Given the description of an element on the screen output the (x, y) to click on. 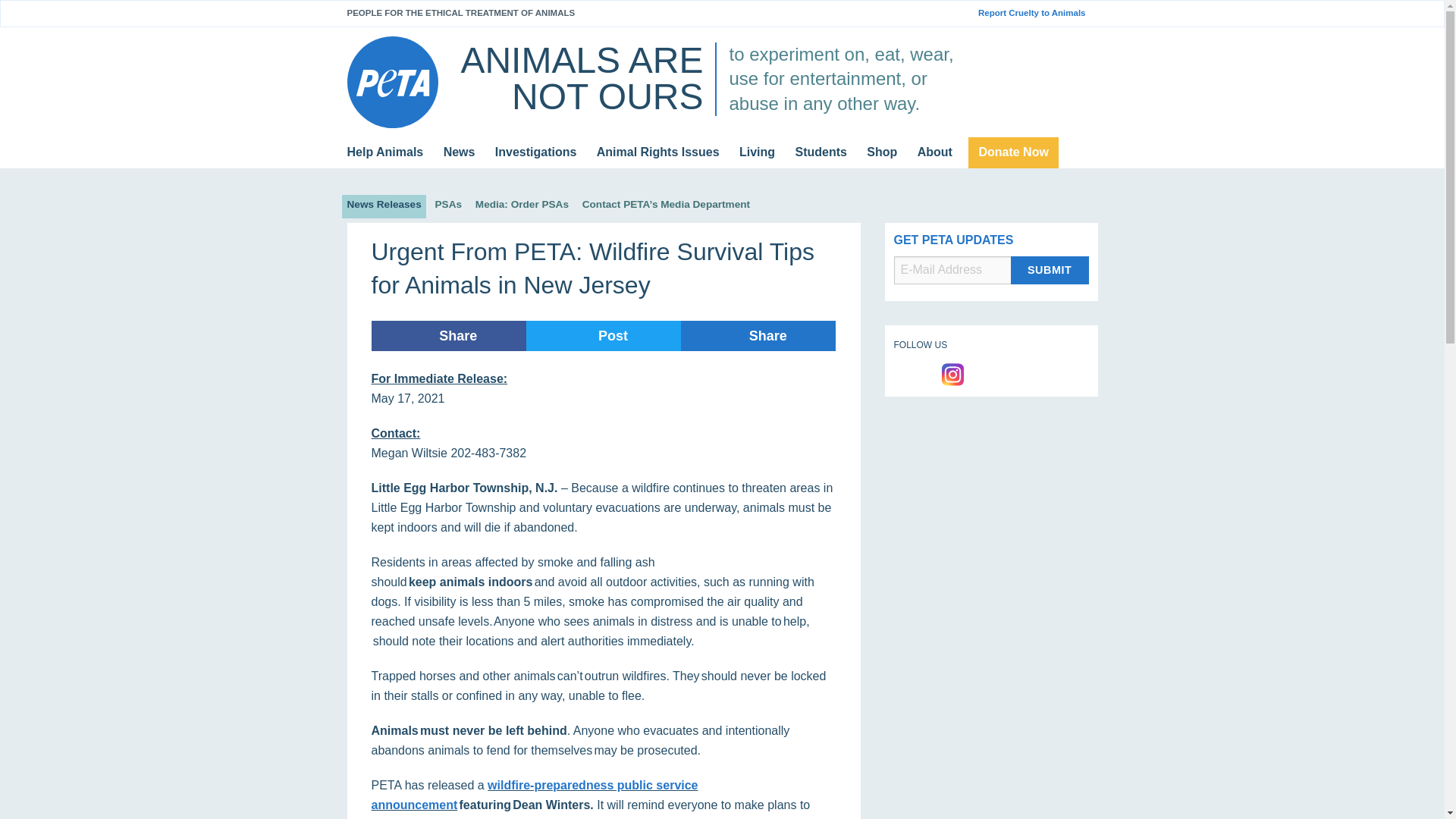
Submit (1049, 270)
ANIMALS ARE NOT OURS (581, 78)
PEOPLE FOR THE ETHICAL TREATMENT OF ANIMALS (461, 13)
Report Cruelty to Animals (1037, 13)
